Given the description of an element on the screen output the (x, y) to click on. 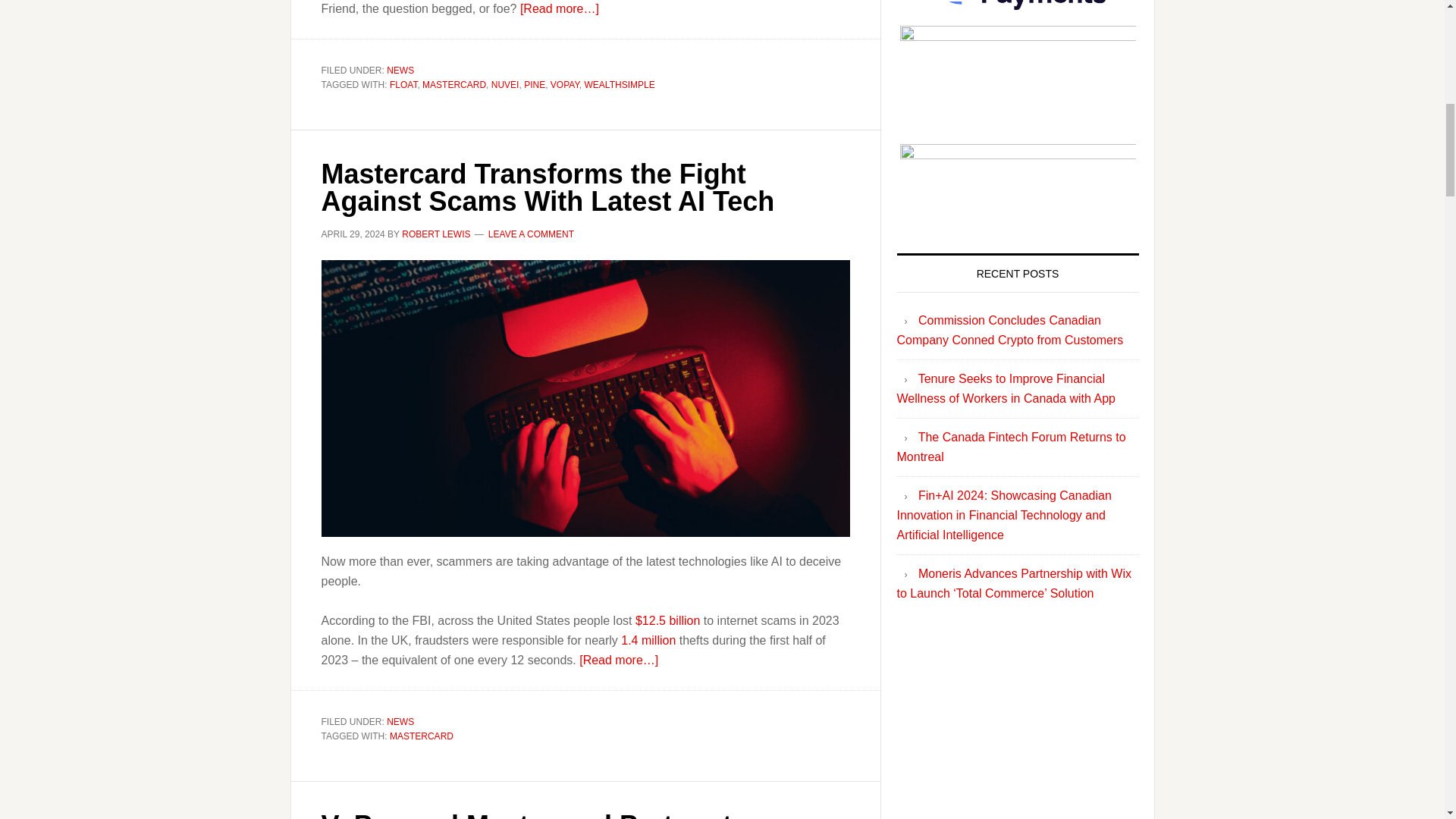
1.4 million (648, 640)
WEALTHSIMPLE (620, 84)
ROBERT LEWIS (435, 234)
MASTERCARD (421, 736)
PINE (534, 84)
LEAVE A COMMENT (530, 234)
NEWS (400, 70)
NEWS (400, 721)
vopay-logo (1017, 154)
NUVEI (505, 84)
